Given the description of an element on the screen output the (x, y) to click on. 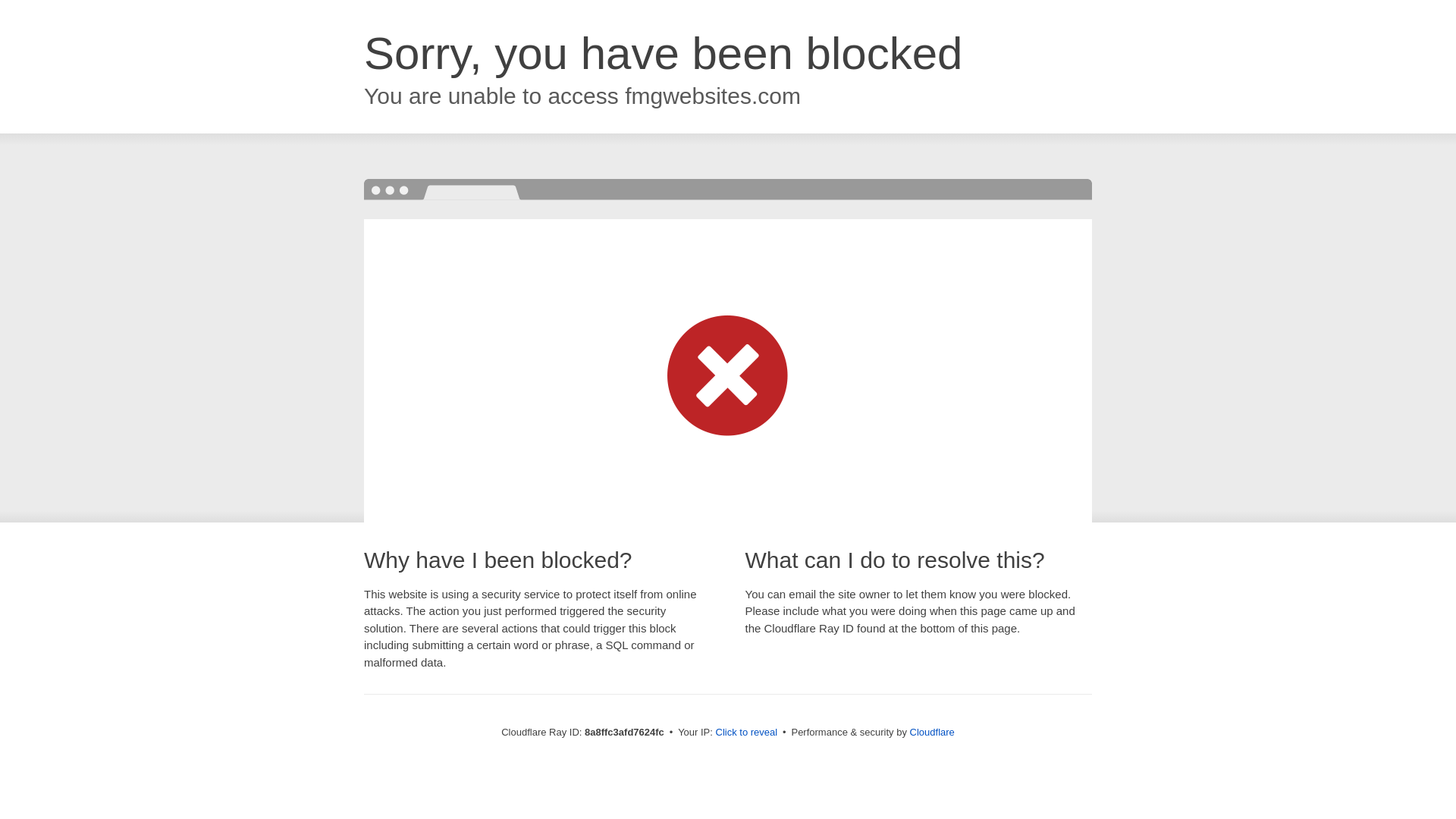
Click to reveal (746, 732)
Cloudflare (932, 731)
